Given the description of an element on the screen output the (x, y) to click on. 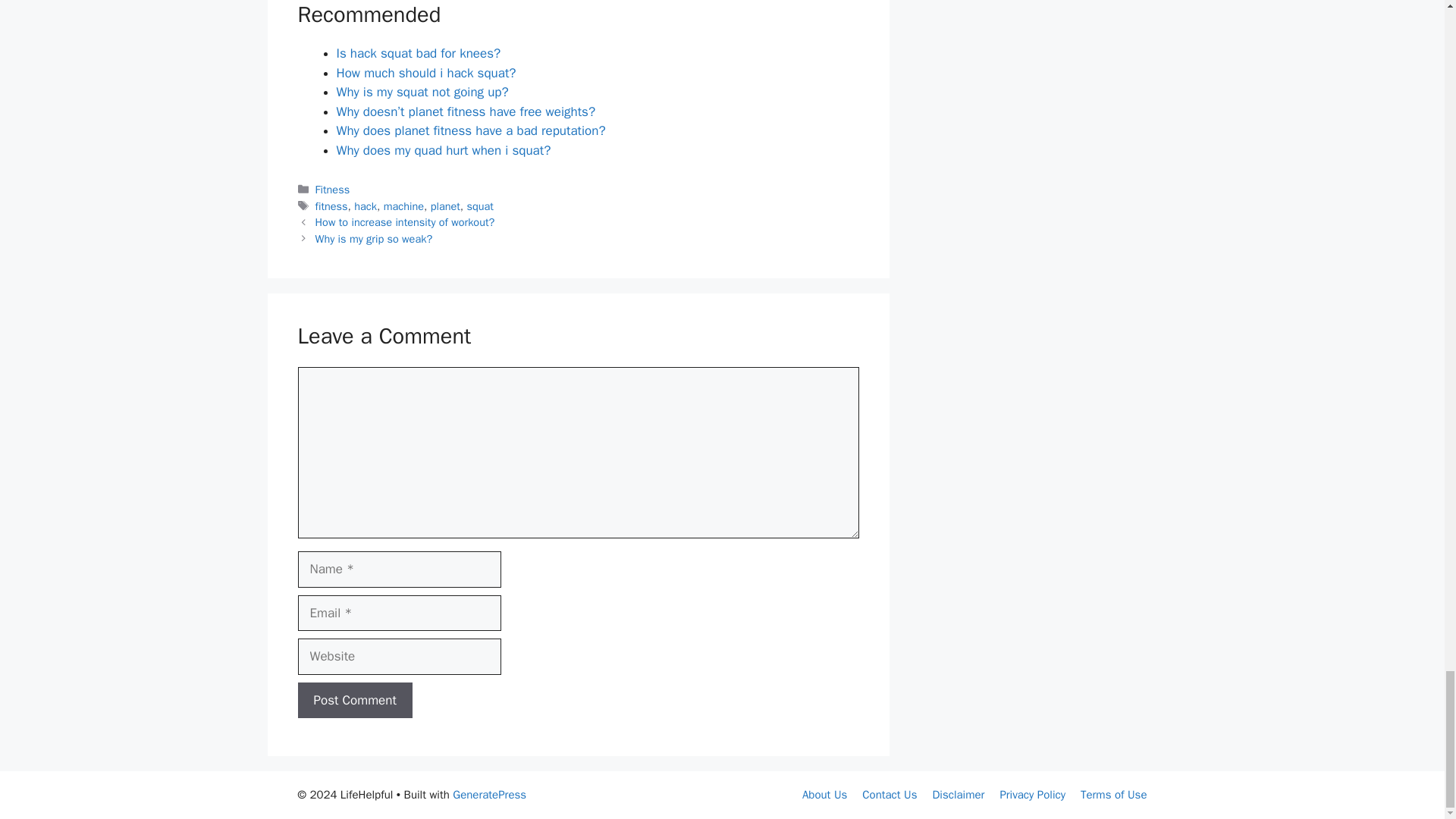
Is hack squat bad for knees? (418, 53)
Why does planet fitness have a bad reputation? (470, 130)
Why does my quad hurt when i squat? (443, 150)
Why is my squat not going up? (422, 91)
How much should i hack squat? (426, 73)
Post Comment (354, 700)
